Given the description of an element on the screen output the (x, y) to click on. 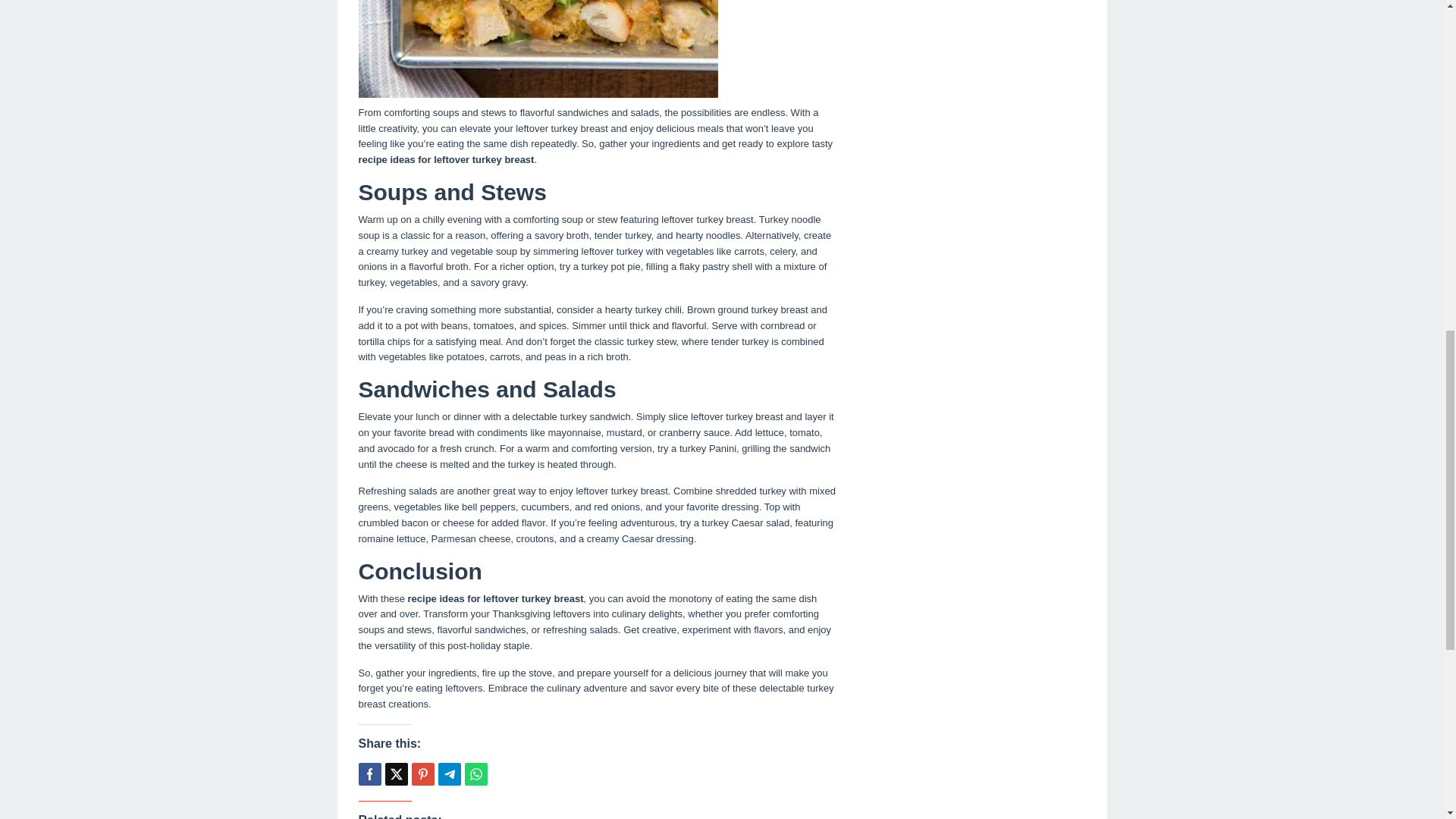
Pin this (421, 773)
Whatsapp (475, 773)
Telegram Share (449, 773)
Share this (369, 773)
Tweet this (396, 773)
